Given the description of an element on the screen output the (x, y) to click on. 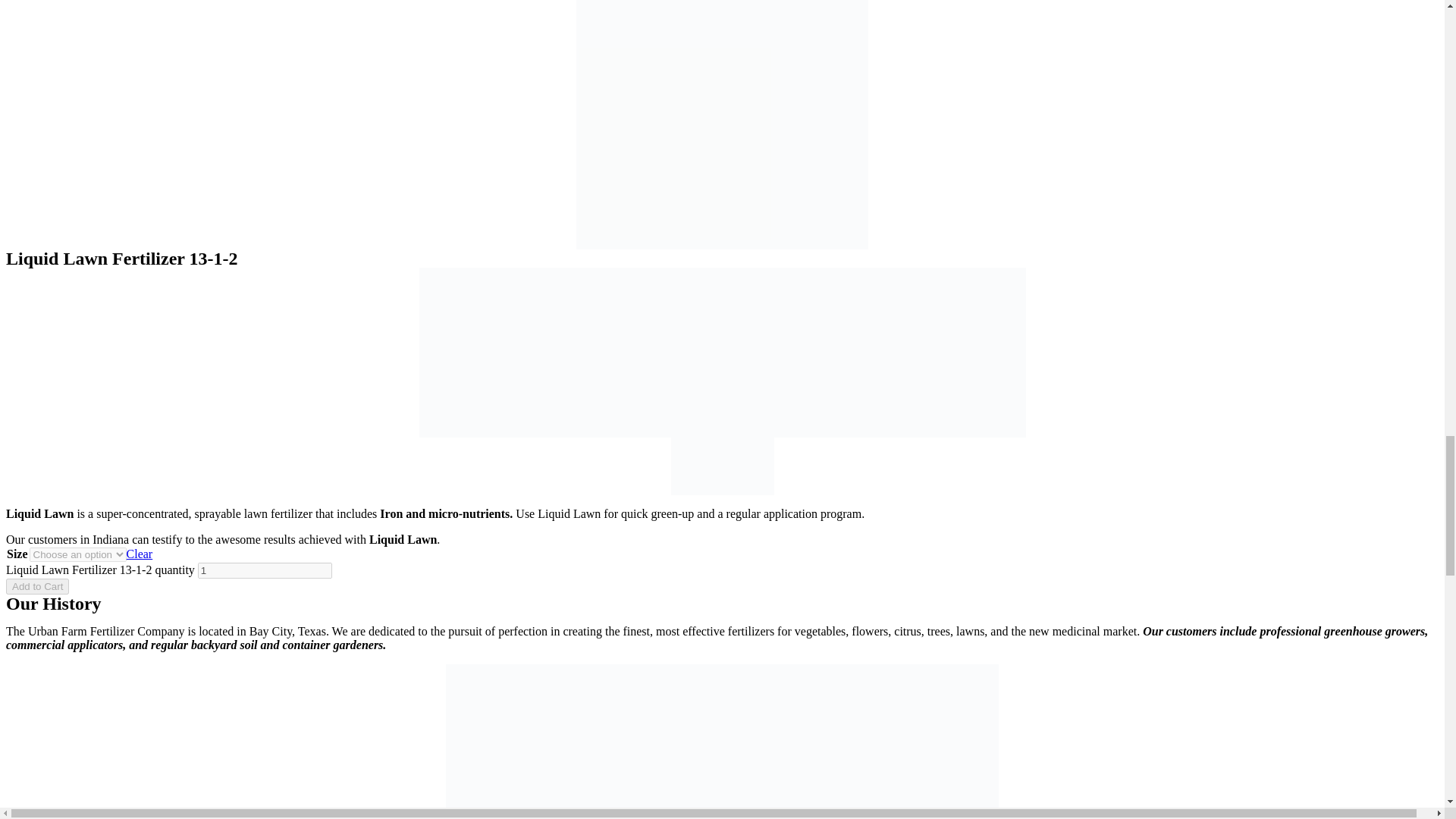
Add to Cart (36, 586)
1 (264, 570)
Clear (139, 553)
